Given the description of an element on the screen output the (x, y) to click on. 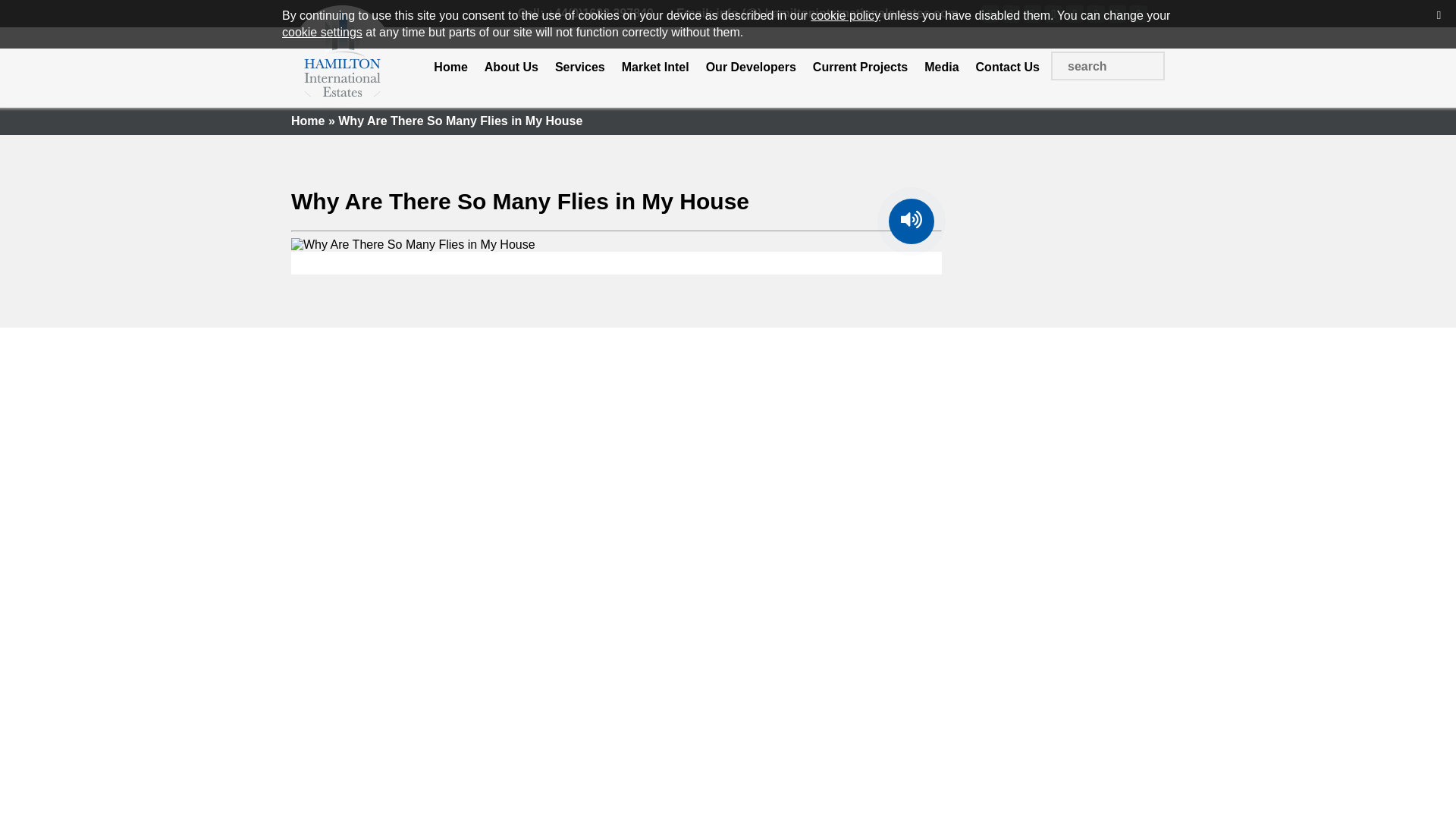
Current Projects (859, 66)
Our Developers (751, 66)
Go to Hamilton International Property Liverpool. (307, 120)
Media (941, 66)
Market Intel (654, 66)
Home (450, 66)
Why Are There So Many Flies in My House (520, 201)
cookie policy (845, 15)
Contact Us (1007, 66)
cookie settings (322, 31)
